Given the description of an element on the screen output the (x, y) to click on. 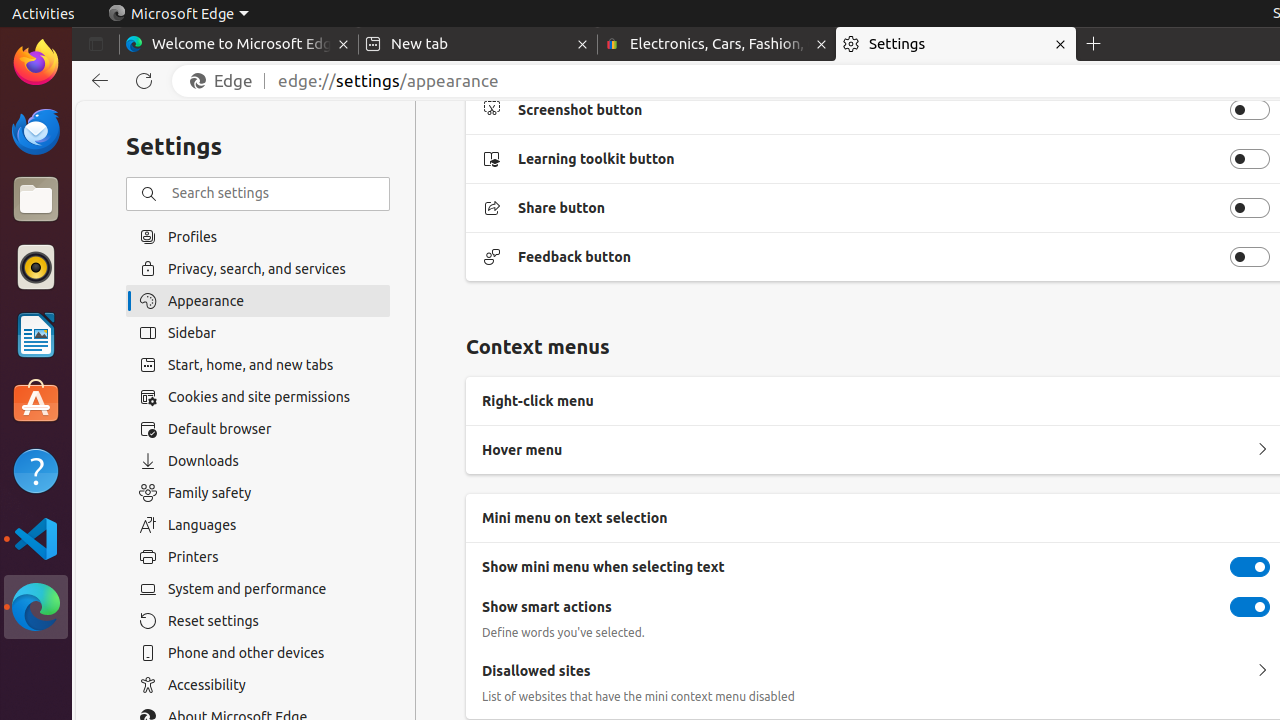
New Tab Element type: push-button (1094, 44)
Appearance Element type: tree-item (258, 301)
Microsoft Edge Element type: push-button (36, 607)
Help Element type: push-button (36, 470)
Thunderbird Mail Element type: push-button (36, 131)
